Given the description of an element on the screen output the (x, y) to click on. 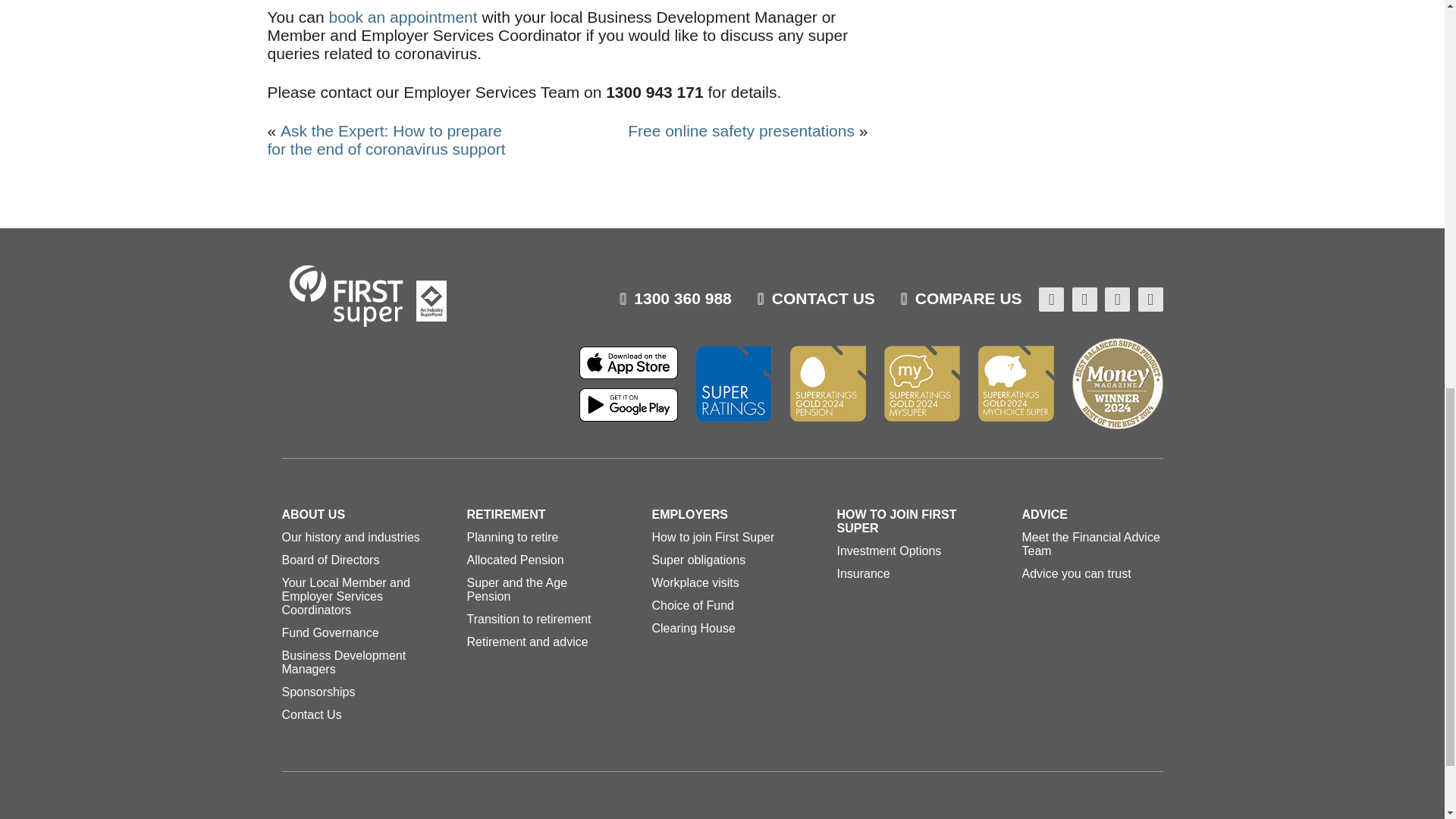
SuperRatings Disclosure (733, 383)
SuperRatings Gold 2023 MySuper (921, 383)
Best of the Best Awards 2023 (1117, 383)
SuperRatings Gold 2023 MyChoiceSuper (1016, 383)
App Store (628, 366)
SuperRatings Gold 2023 Pension (828, 383)
Google Play Badge (628, 408)
